Given the description of an element on the screen output the (x, y) to click on. 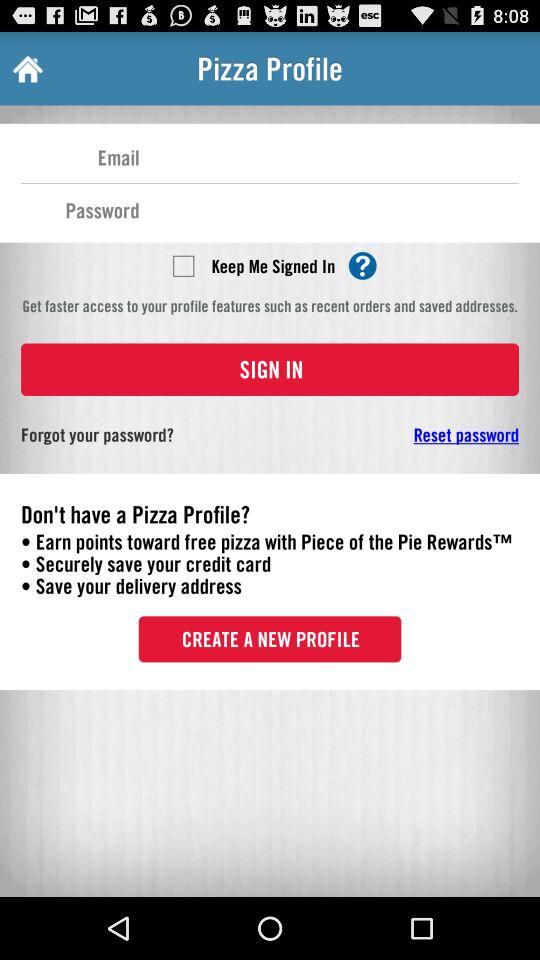
enter password (329, 209)
